Given the description of an element on the screen output the (x, y) to click on. 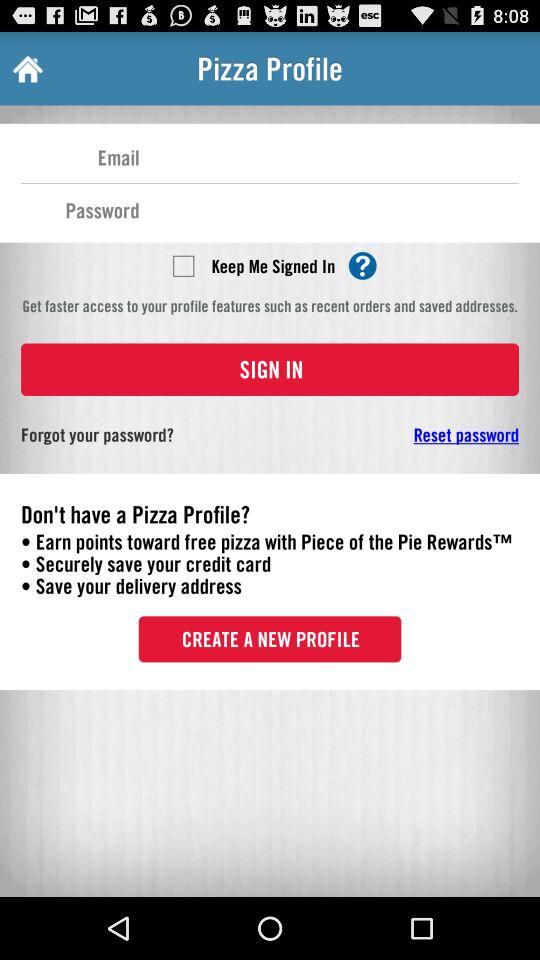
enter password (329, 209)
